Given the description of an element on the screen output the (x, y) to click on. 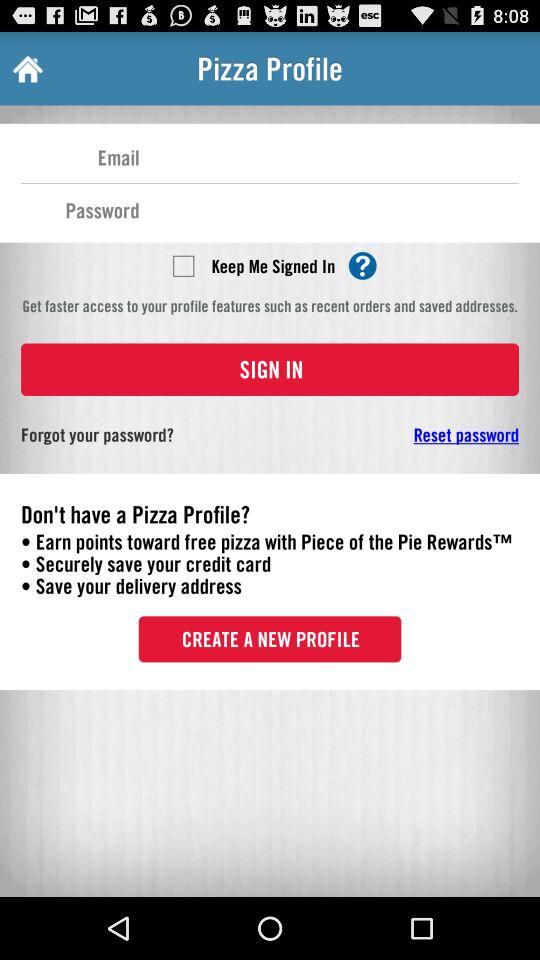
enter password (329, 209)
